Given the description of an element on the screen output the (x, y) to click on. 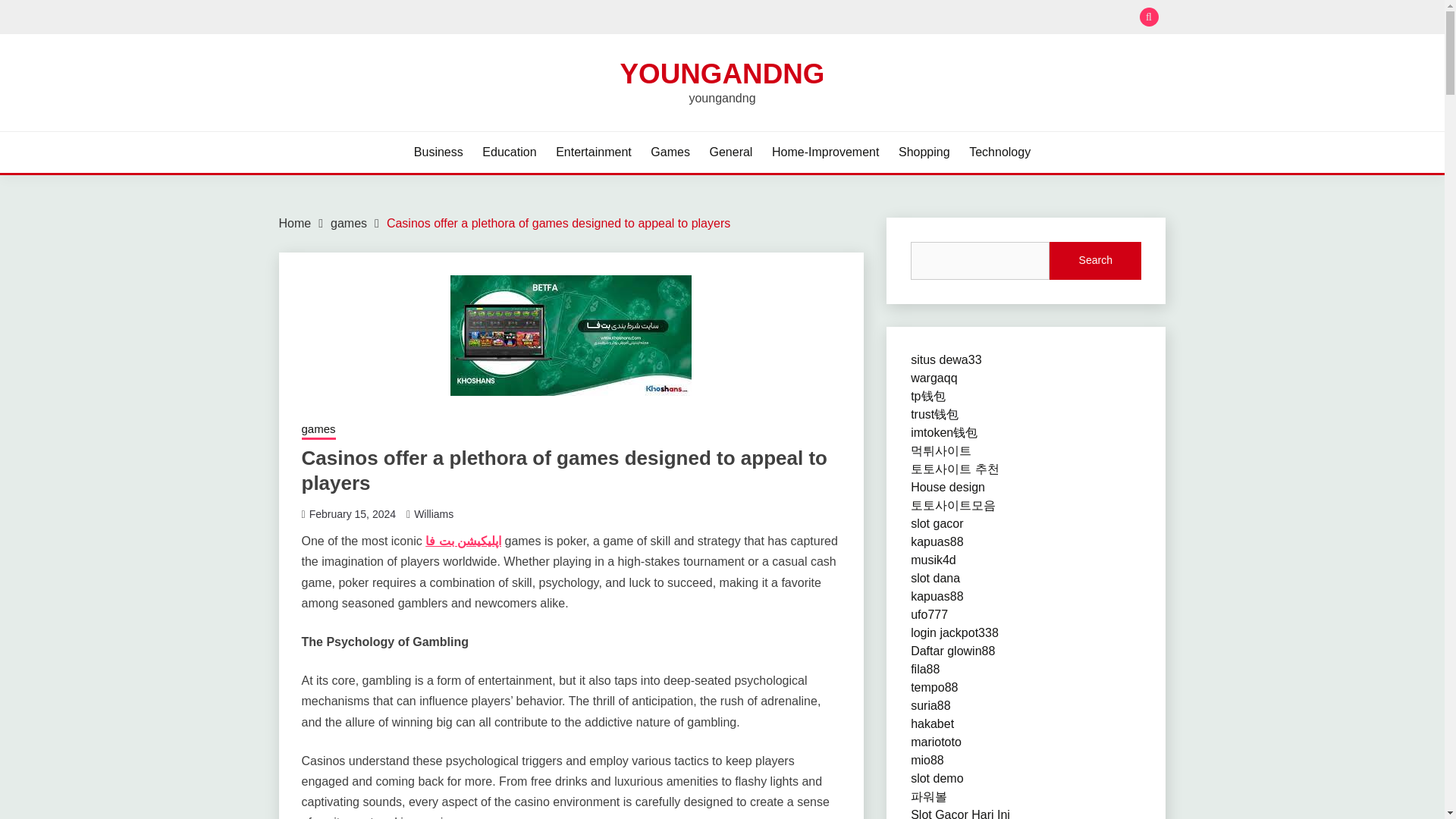
Technology (999, 152)
wargaqq (933, 377)
Williams (432, 513)
Home (295, 223)
Home-Improvement (825, 152)
General (731, 152)
February 15, 2024 (352, 513)
Education (508, 152)
Search (832, 18)
